Given the description of an element on the screen output the (x, y) to click on. 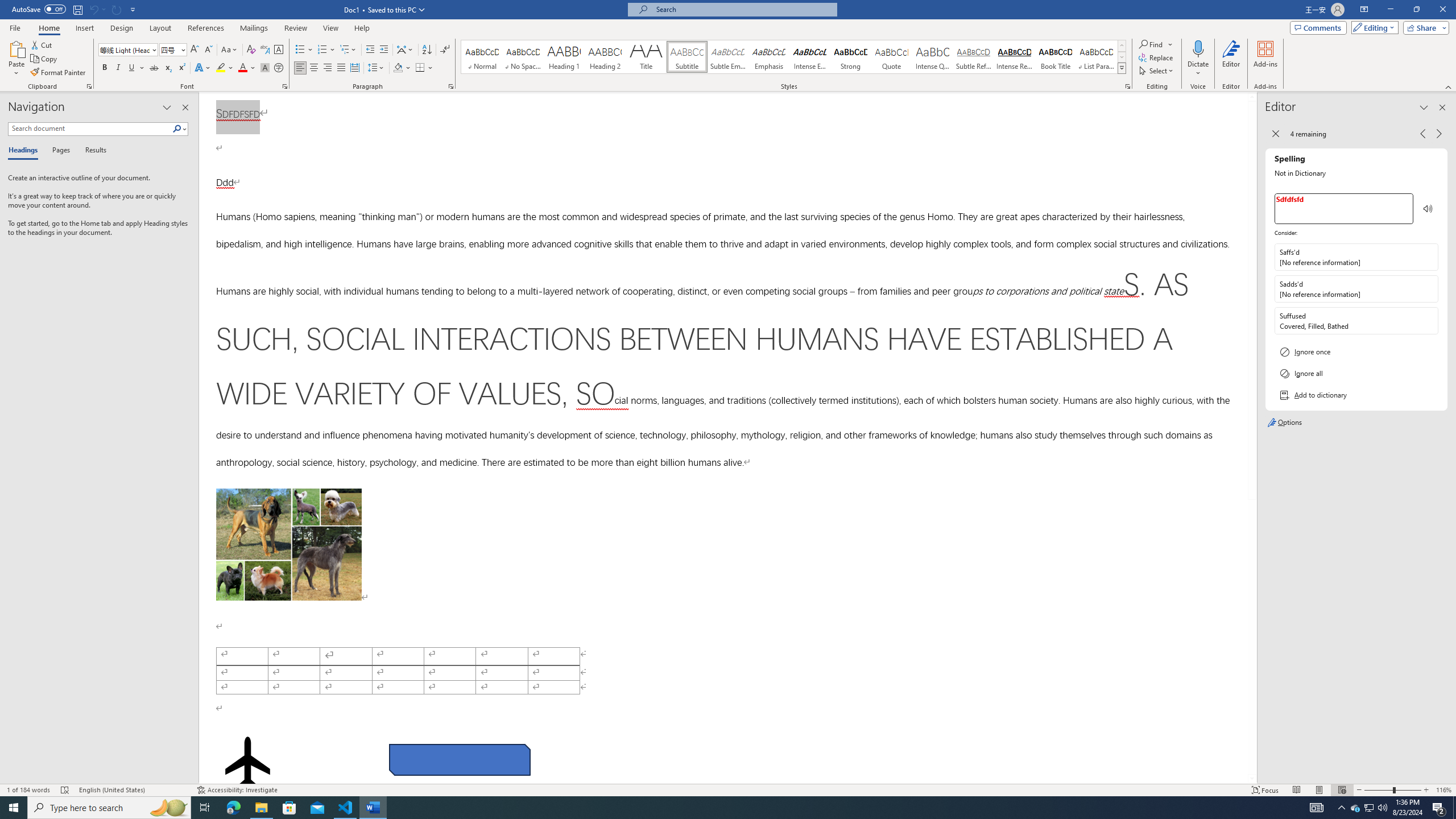
Class: NetUIImage (1121, 68)
More options for Saffs'd (1428, 257)
Ribbon Display Options (1364, 9)
Help (361, 28)
Find (1151, 44)
Row up (1121, 45)
Dictate (1197, 48)
Multilevel List (347, 49)
Distributed (354, 67)
Office Clipboard... (88, 85)
Add to dictionary (1356, 395)
Shading RGB(0, 0, 0) (397, 67)
Font Color (246, 67)
